Given the description of an element on the screen output the (x, y) to click on. 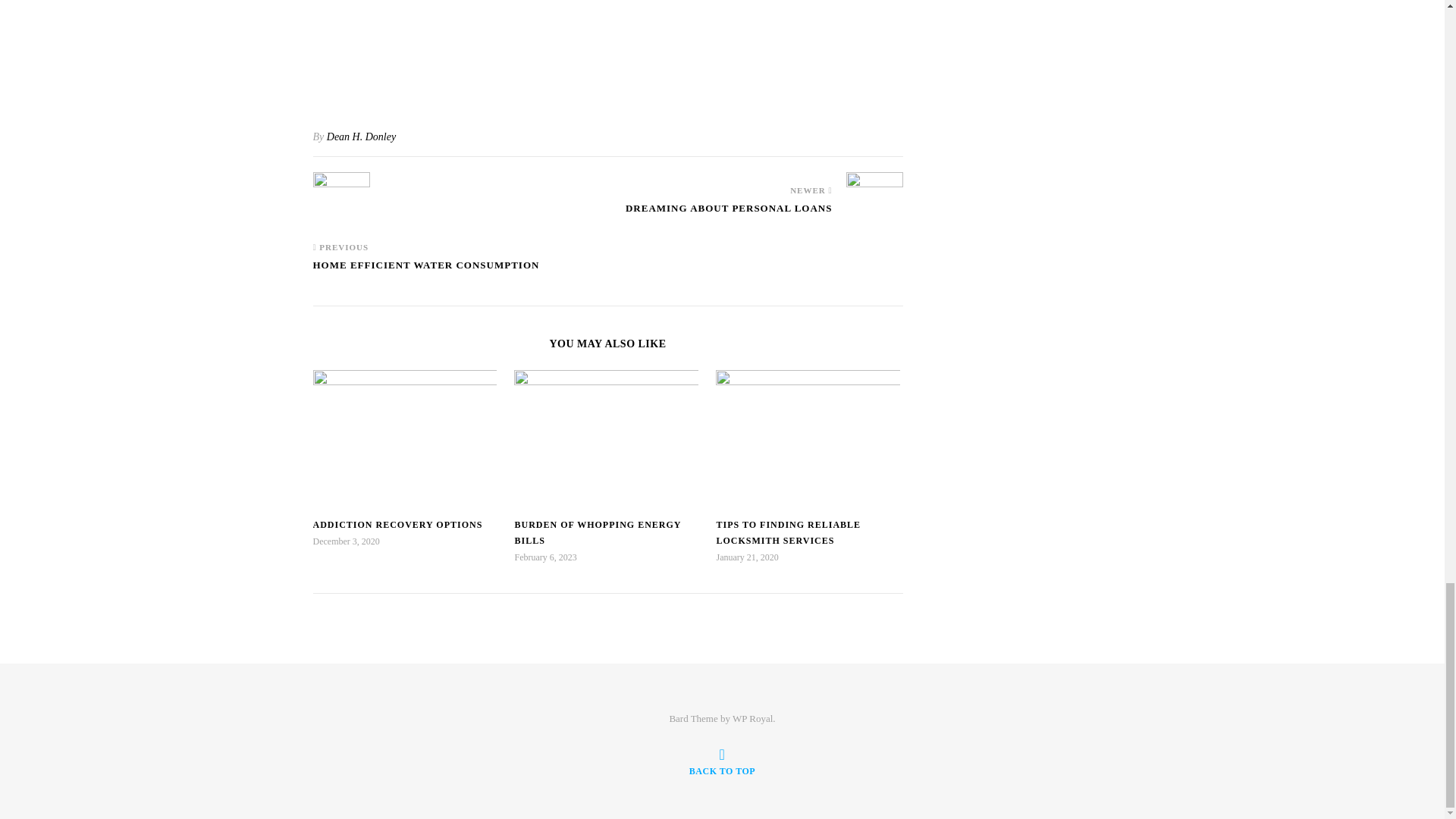
BACK TO TOP (722, 761)
YouTube video player (607, 49)
DREAMING ABOUT PERSONAL LOANS (729, 214)
Dreaming About Personal Loans (873, 200)
Home Efficient Water Consumption (341, 200)
Dreaming About Personal Loans (729, 214)
Home Efficient Water Consumption (425, 272)
Posts by Dean H. Donley (361, 136)
HOME EFFICIENT WATER CONSUMPTION (425, 272)
Dean H. Donley (361, 136)
